Given the description of an element on the screen output the (x, y) to click on. 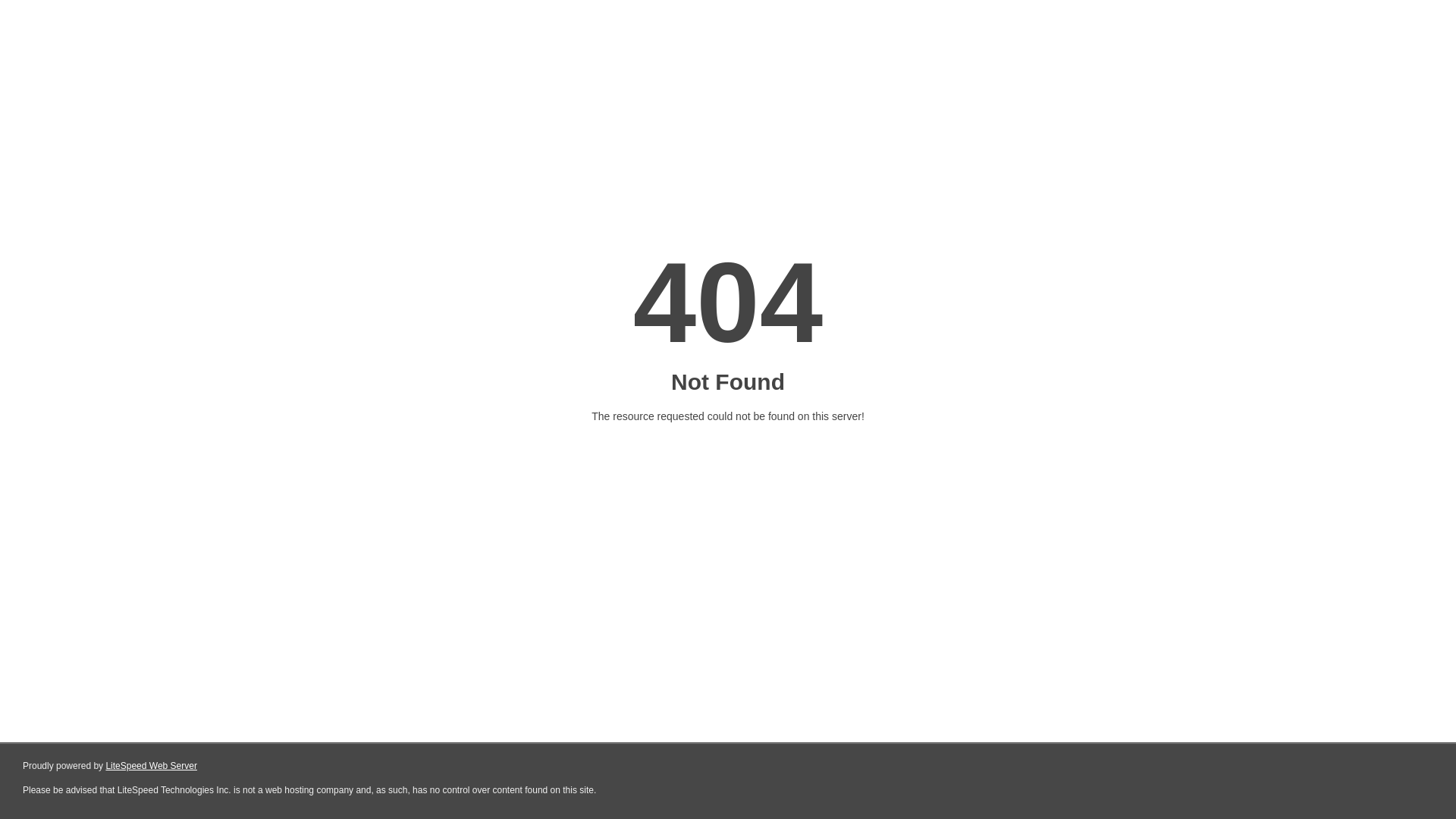
LiteSpeed Web Server Element type: text (151, 765)
